Given the description of an element on the screen output the (x, y) to click on. 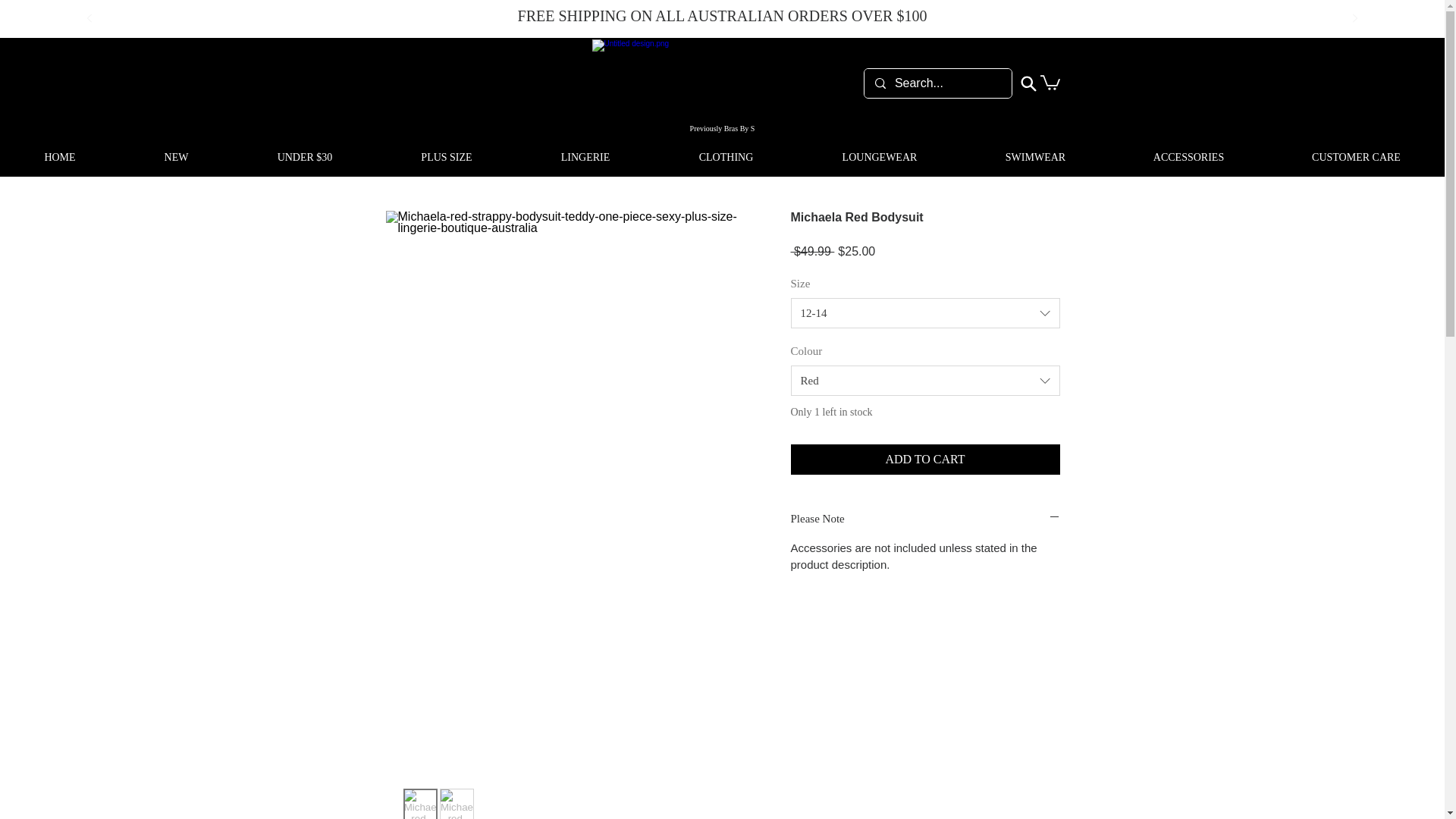
NEW (175, 157)
SWIMWEAR (1034, 157)
HOME (59, 157)
LOUNGEWEAR (878, 157)
